Given the description of an element on the screen output the (x, y) to click on. 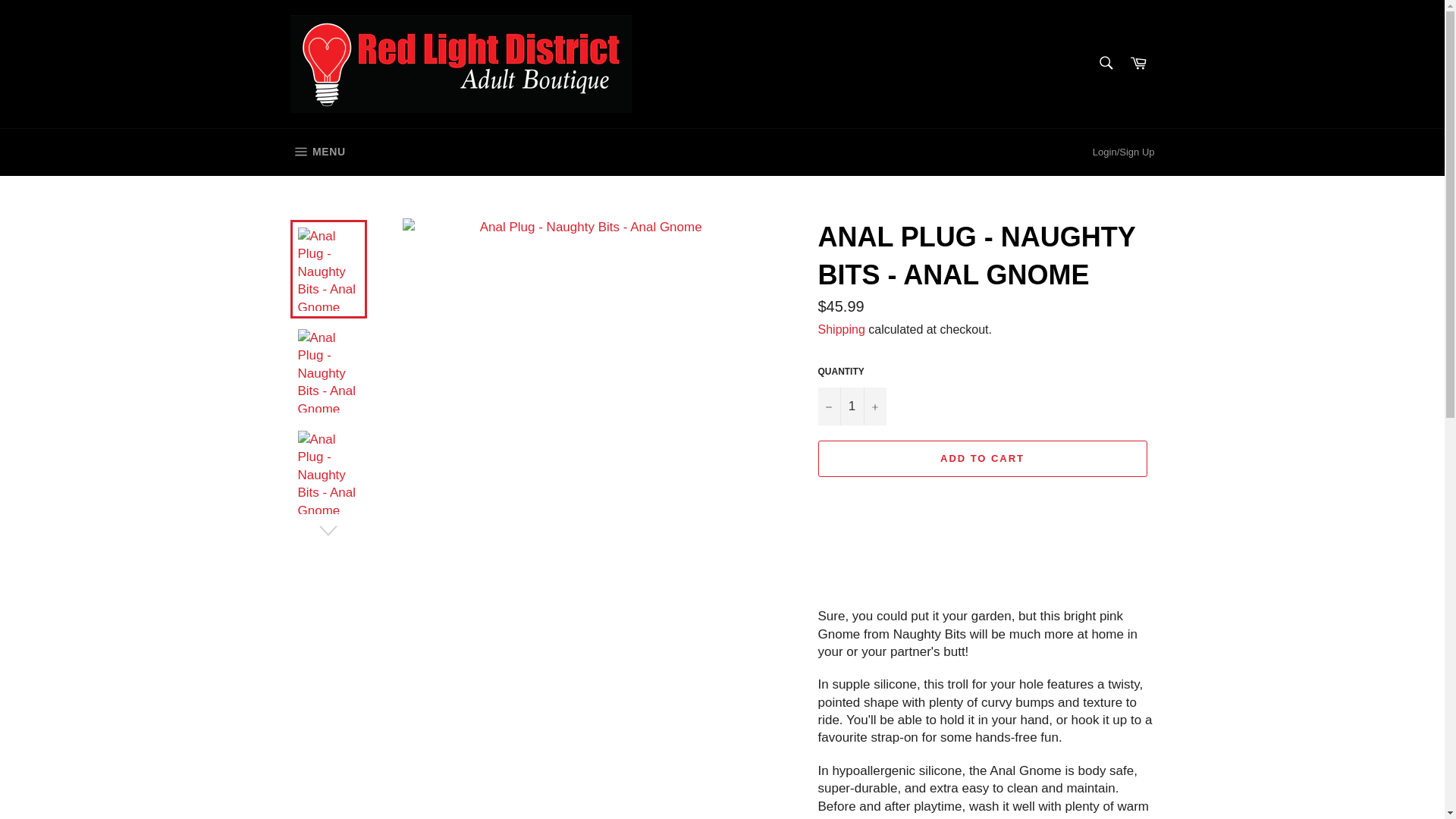
1 (850, 406)
